Given the description of an element on the screen output the (x, y) to click on. 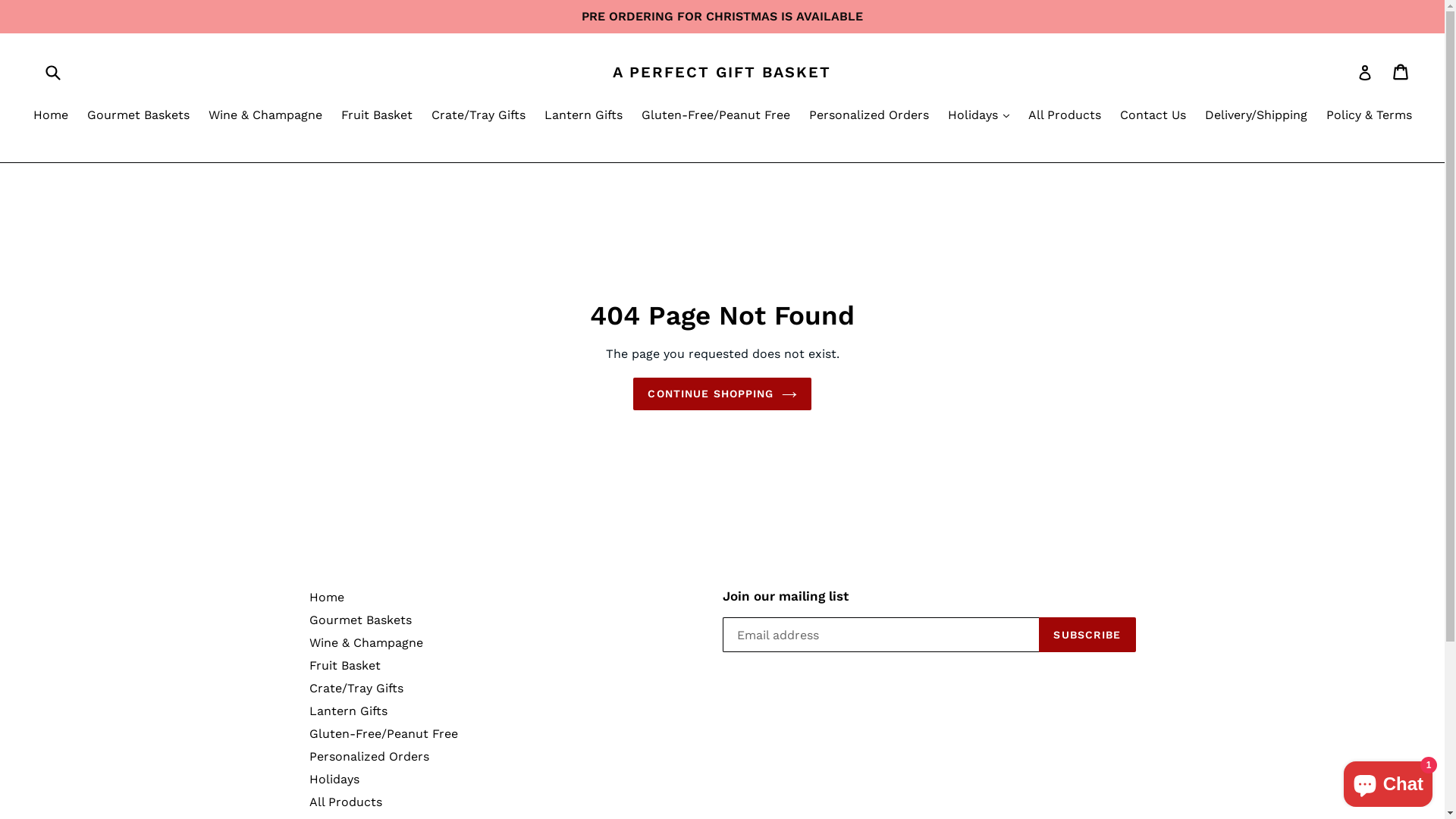
SUBSCRIBE Element type: text (1086, 634)
Personalized Orders Element type: text (369, 756)
Wine & Champagne Element type: text (264, 116)
Basket
Basket Element type: text (1401, 71)
Holidays Element type: text (334, 778)
Log in Element type: text (1364, 71)
Contact Us Element type: text (1151, 116)
Shopify online store chat Element type: hover (1388, 780)
Gourmet Baskets Element type: text (137, 116)
Lantern Gifts Element type: text (583, 116)
Crate/Tray Gifts Element type: text (477, 116)
All Products Element type: text (1064, 116)
A PERFECT GIFT BASKET Element type: text (721, 71)
Submit Element type: text (51, 71)
Personalized Orders Element type: text (867, 116)
Crate/Tray Gifts Element type: text (356, 687)
Fruit Basket Element type: text (344, 665)
Policy & Terms Element type: text (1367, 116)
Gourmet Baskets Element type: text (360, 619)
Wine & Champagne Element type: text (366, 642)
Gluten-Free/Peanut Free Element type: text (715, 116)
Fruit Basket Element type: text (376, 116)
CONTINUE SHOPPING Element type: text (721, 393)
Delivery/Shipping Element type: text (1255, 116)
Home Element type: text (50, 116)
Lantern Gifts Element type: text (348, 710)
All Products Element type: text (345, 801)
Gluten-Free/Peanut Free Element type: text (383, 733)
Home Element type: text (326, 596)
